Given the description of an element on the screen output the (x, y) to click on. 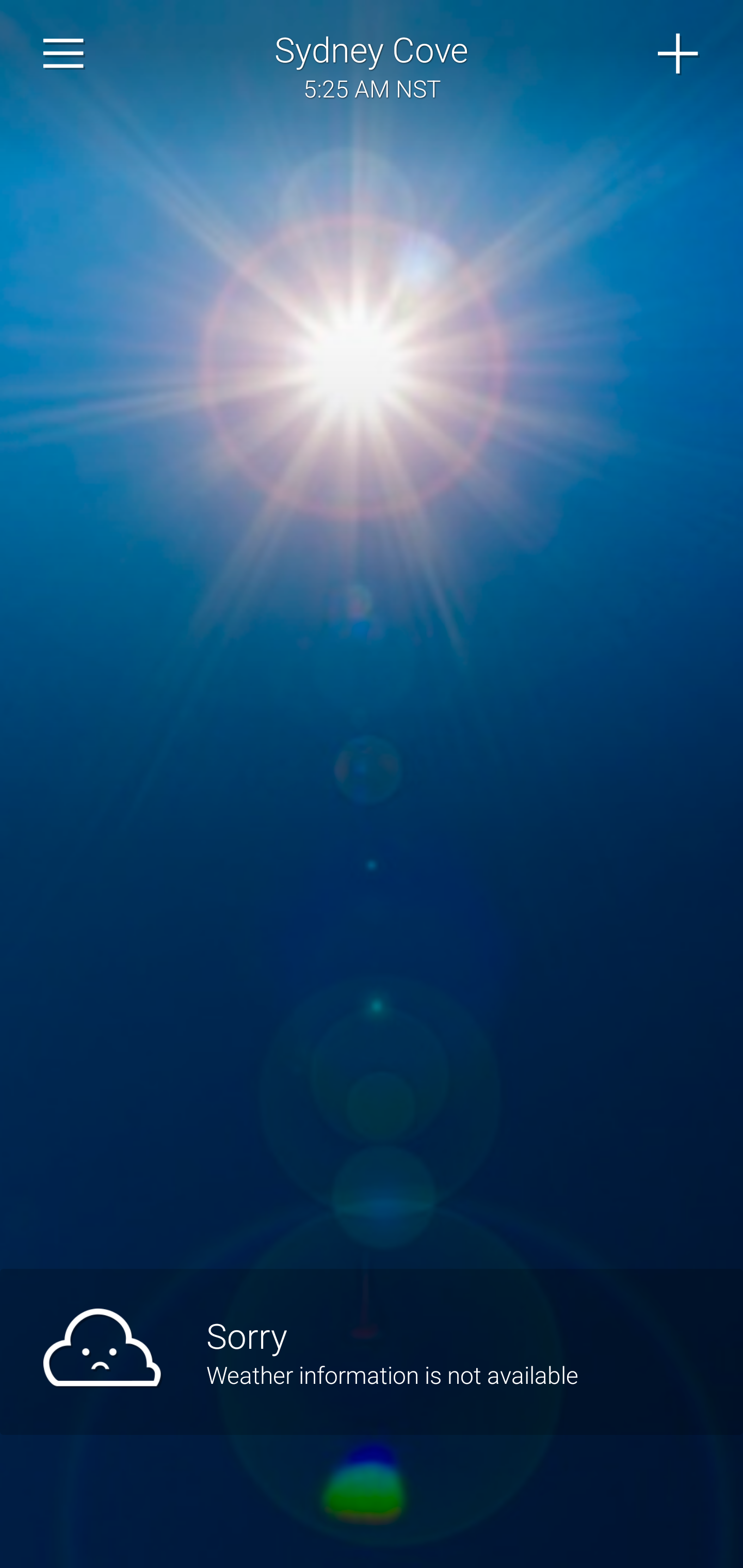
Sidebar (64, 54)
Add City (678, 53)
